Given the description of an element on the screen output the (x, y) to click on. 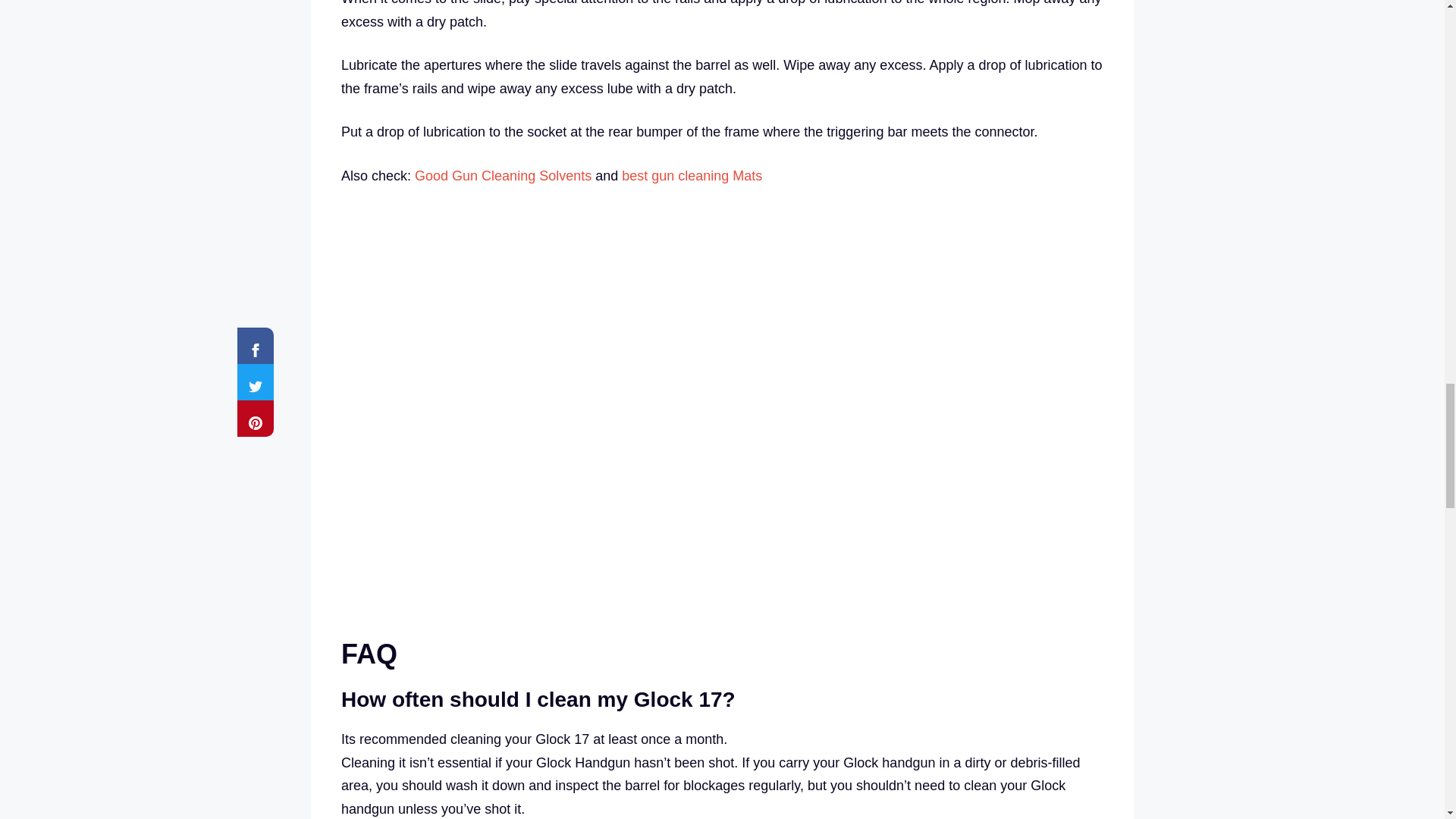
best gun cleaning Mats (691, 175)
Good Gun Cleaning Solvents (502, 175)
